Given the description of an element on the screen output the (x, y) to click on. 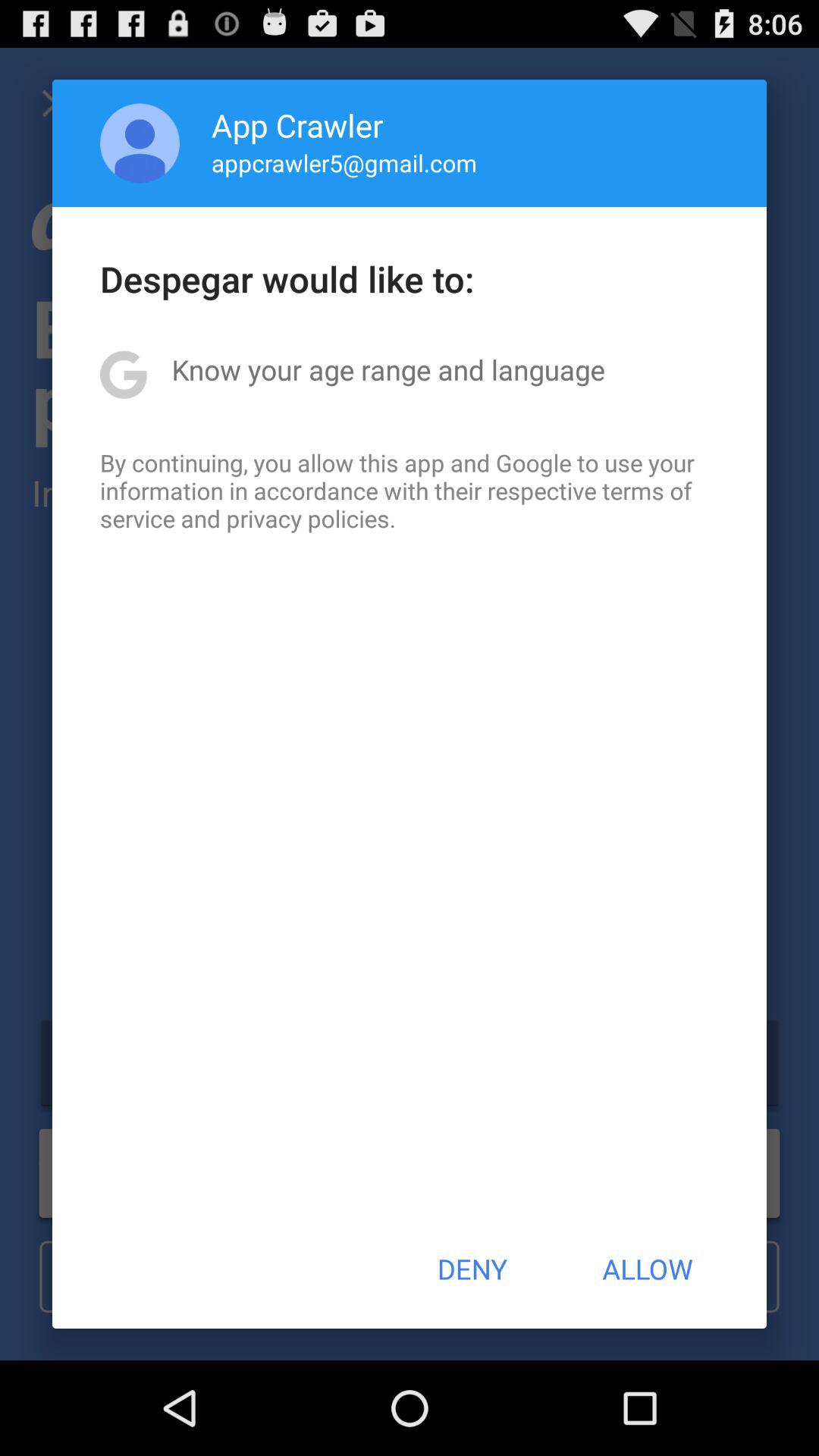
choose app crawler icon (297, 124)
